Given the description of an element on the screen output the (x, y) to click on. 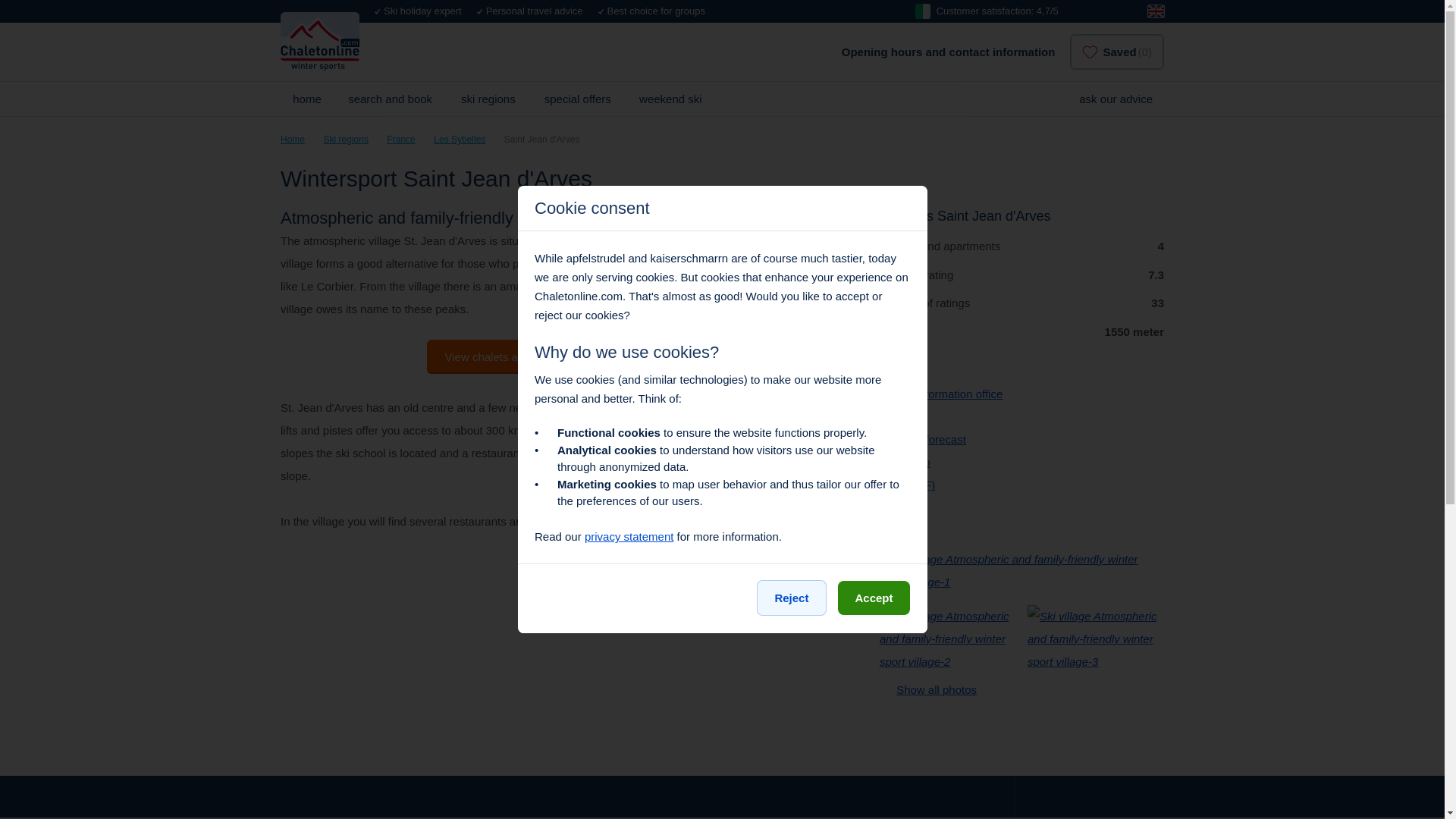
weekend ski (670, 98)
special offers (577, 98)
Show all photos (927, 689)
Opening hours and contact information (948, 51)
Les Sybelles (458, 139)
Current language: English (1156, 11)
ask our advice (1112, 98)
France (400, 139)
Ski regions (345, 139)
privacy statement (629, 535)
